Given the description of an element on the screen output the (x, y) to click on. 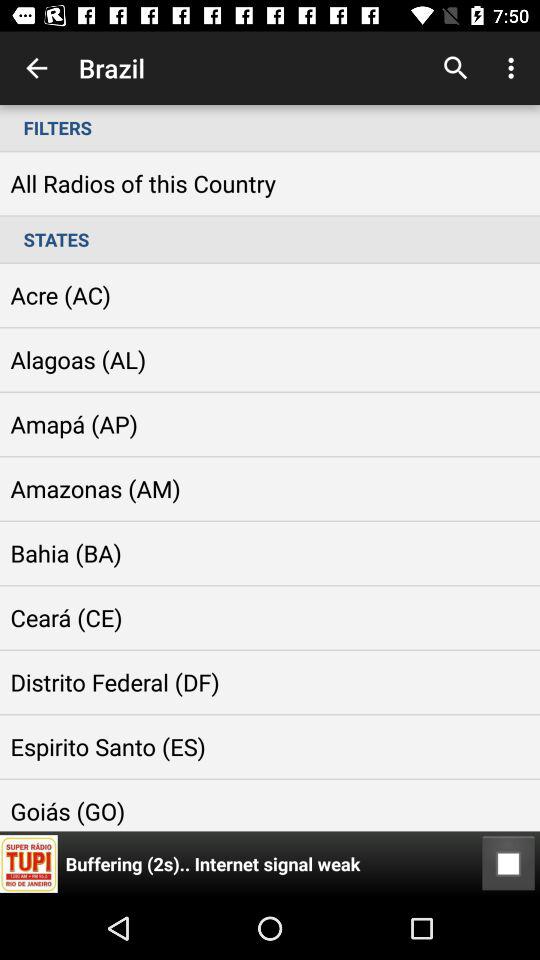
open the icon next to brazil app (455, 67)
